Given the description of an element on the screen output the (x, y) to click on. 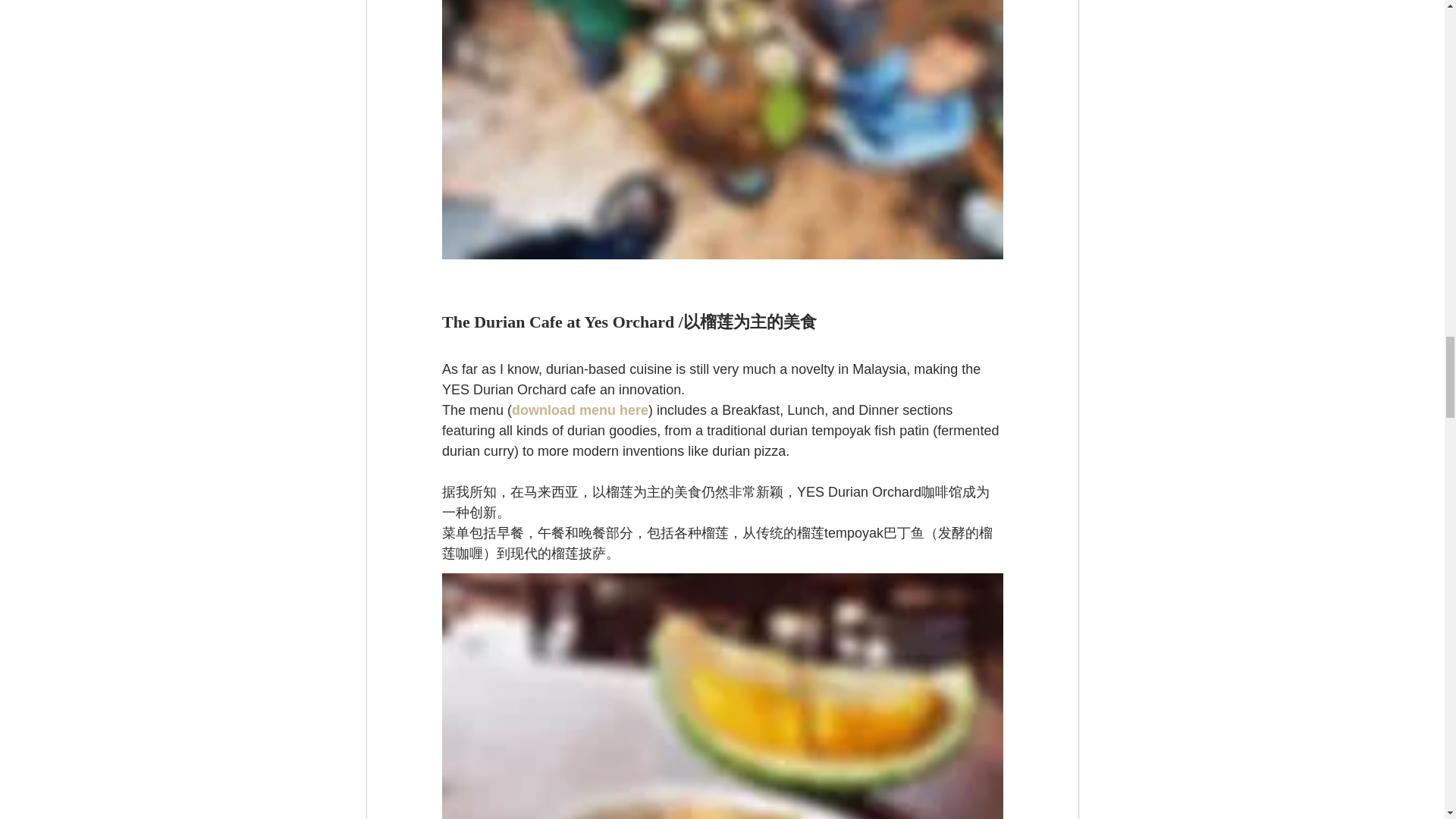
download menu here (579, 409)
